Given the description of an element on the screen output the (x, y) to click on. 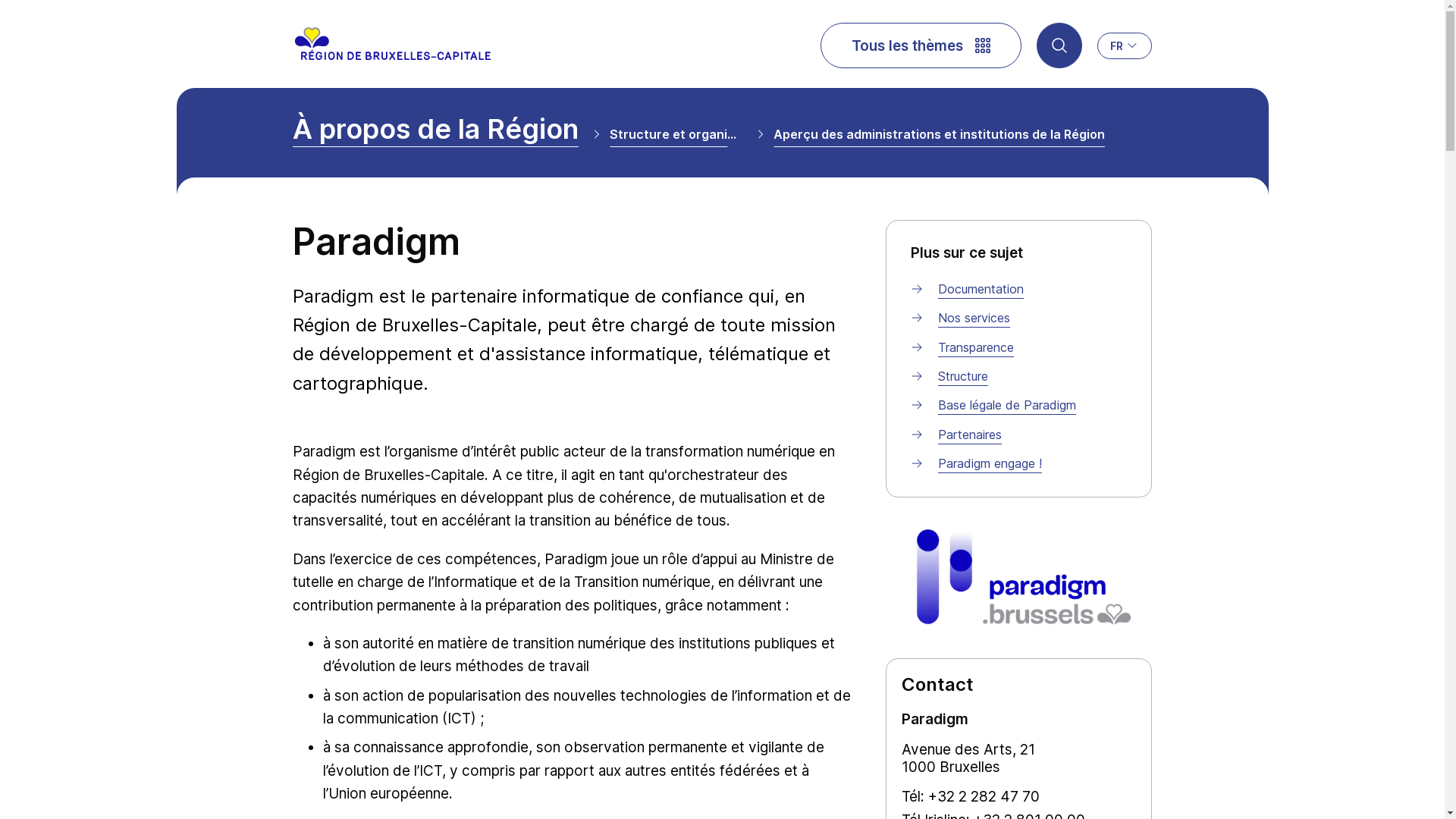
Transparence Element type: text (975, 346)
Structure et organisation Element type: text (675, 137)
Structure Element type: text (963, 375)
Nos services Element type: text (974, 317)
Documentation Element type: text (980, 288)
Partenaires Element type: text (969, 434)
FR Element type: text (1124, 44)
Paradigm engage ! Element type: text (989, 463)
